Given the description of an element on the screen output the (x, y) to click on. 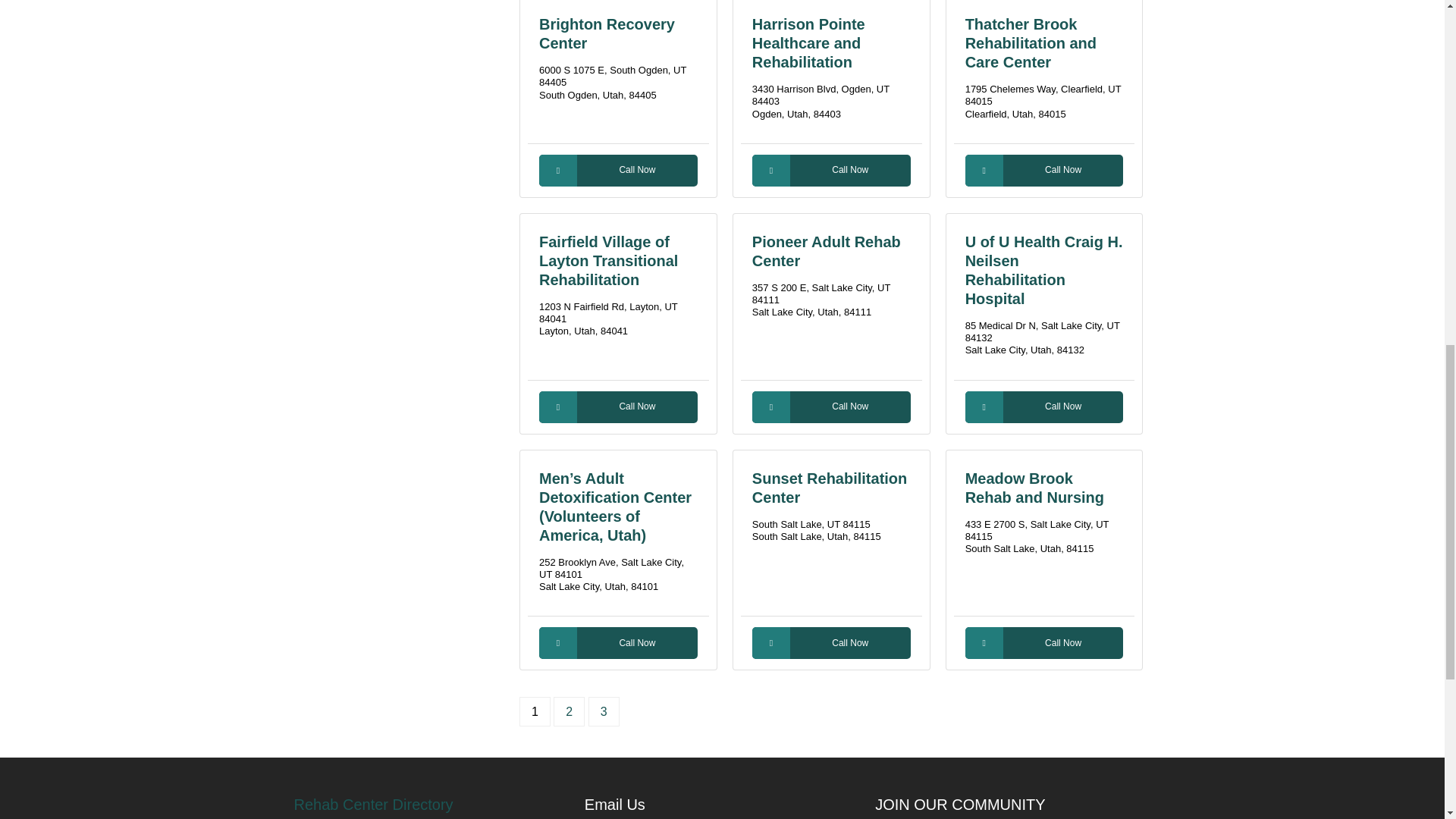
Call Now (617, 643)
Harrison Pointe Healthcare and Rehabilitation (808, 42)
Rehab Center Directory (431, 804)
Call Now (617, 407)
Meadow Brook Rehab and Nursing (1034, 488)
Pioneer Adult Rehab Center (826, 251)
Call Now (1044, 643)
Call Now (831, 170)
Call Now (1044, 170)
Call Now (1044, 407)
